Given the description of an element on the screen output the (x, y) to click on. 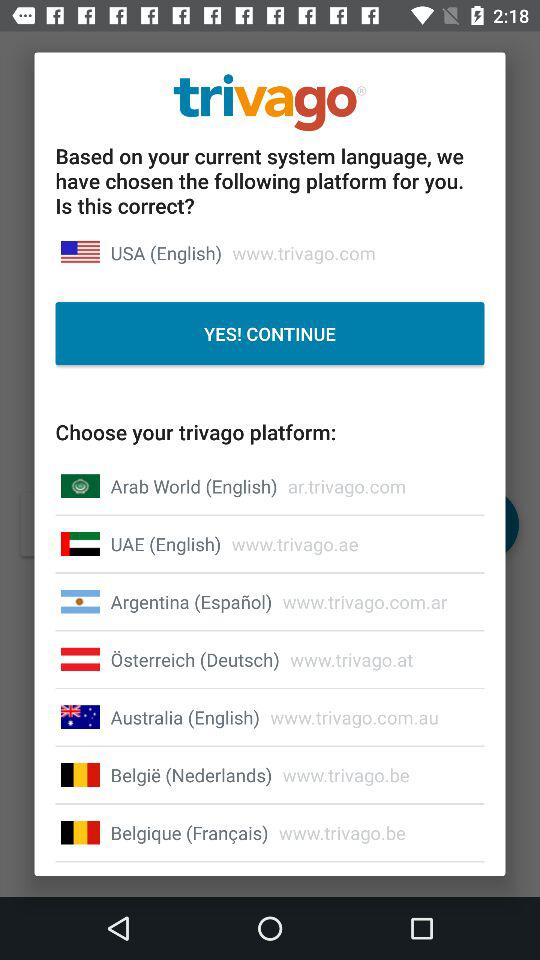
launch the item next to the www.trivago.be (191, 774)
